Given the description of an element on the screen output the (x, y) to click on. 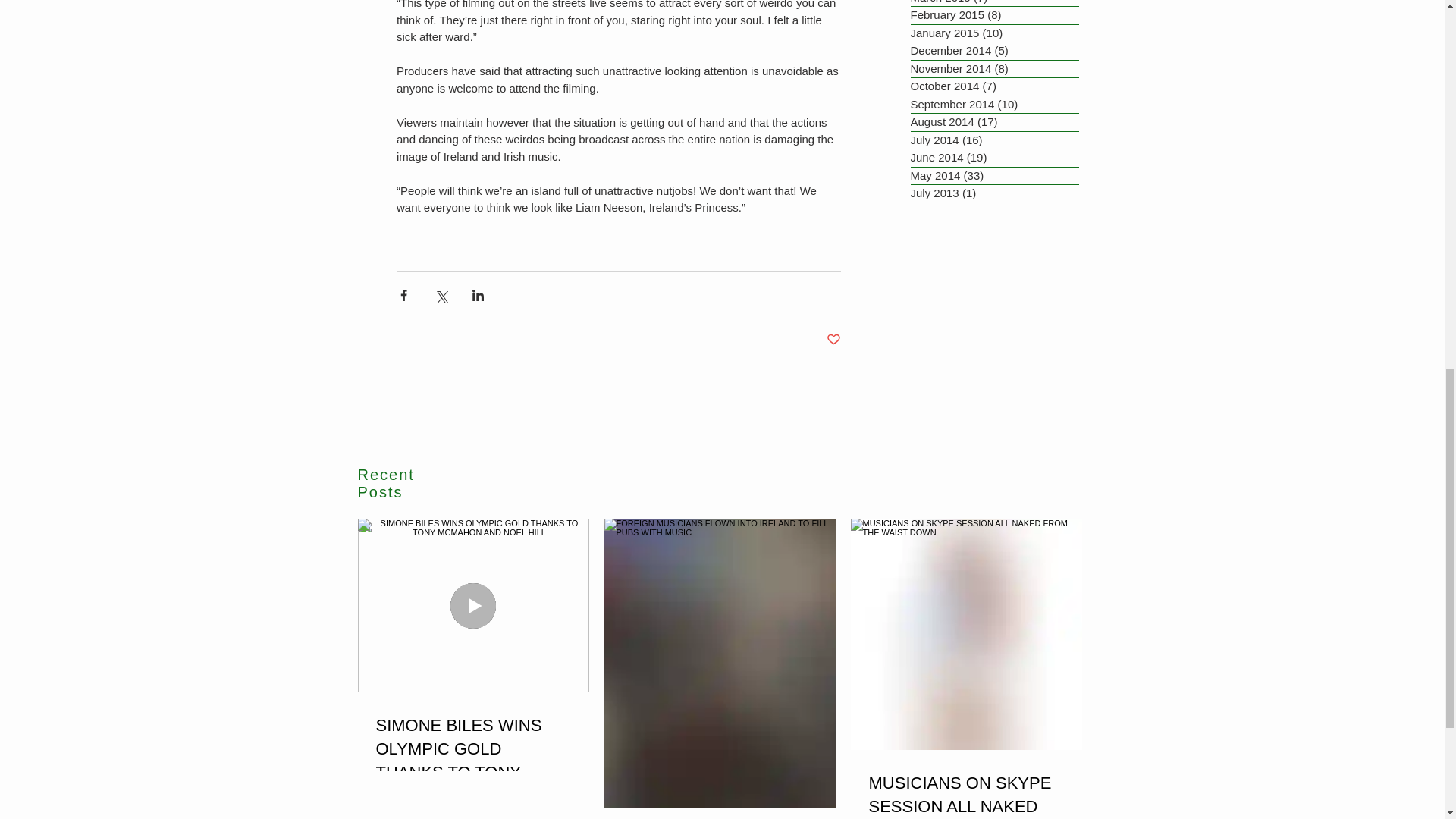
Post not marked as liked (834, 340)
